Given the description of an element on the screen output the (x, y) to click on. 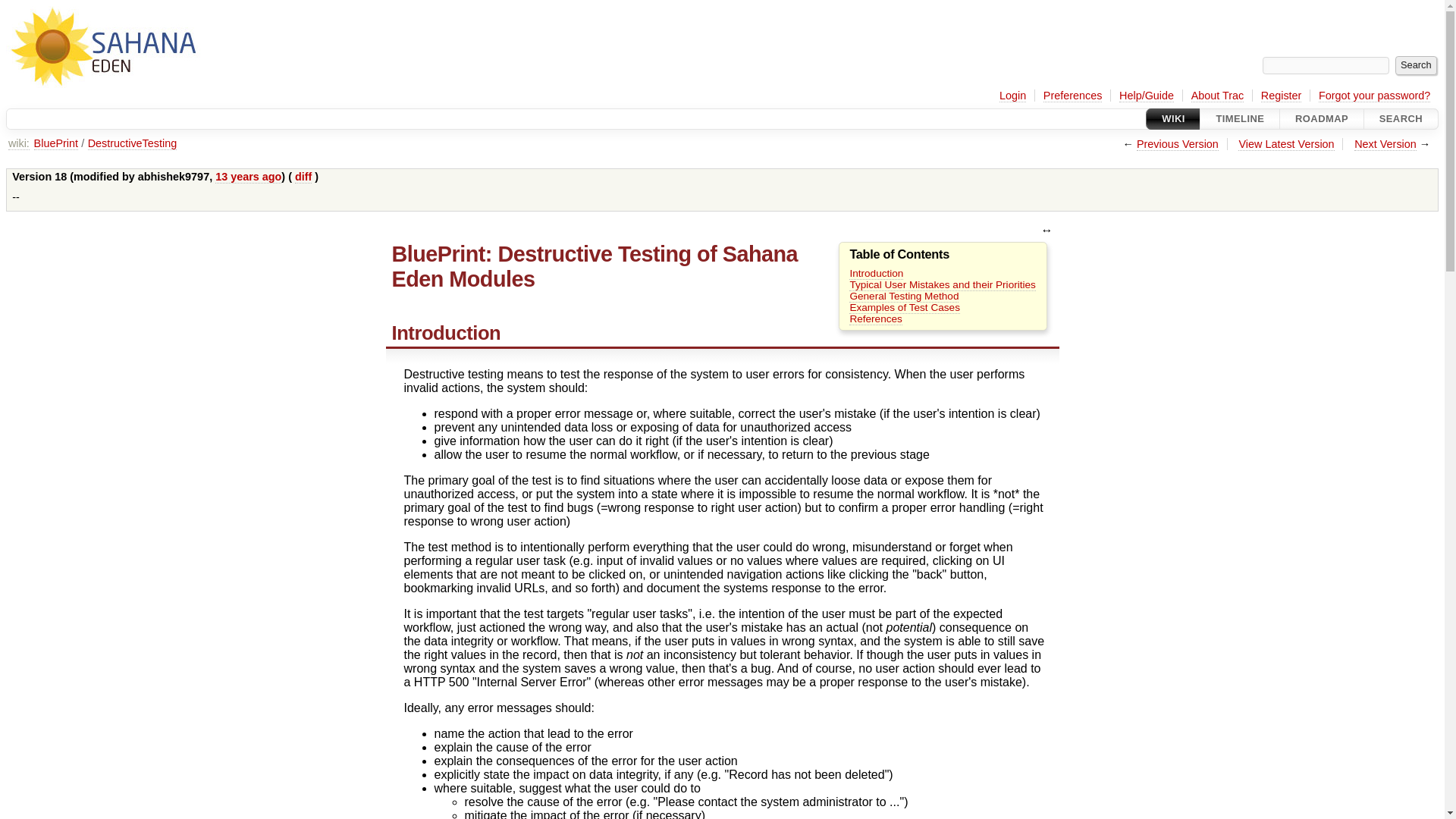
Introduction (875, 273)
About Trac (1217, 95)
13 years ago (248, 176)
TIMELINE (1239, 118)
Next Version (1385, 144)
General Testing Method (903, 296)
View BluePrint (55, 143)
Examples of Test Cases (903, 307)
Version 19 (1385, 144)
View Latest Version (1286, 144)
Login (1012, 95)
Previous Version (1177, 144)
wiki: (18, 143)
Version 17 (1177, 144)
WIKI (1173, 118)
